Given the description of an element on the screen output the (x, y) to click on. 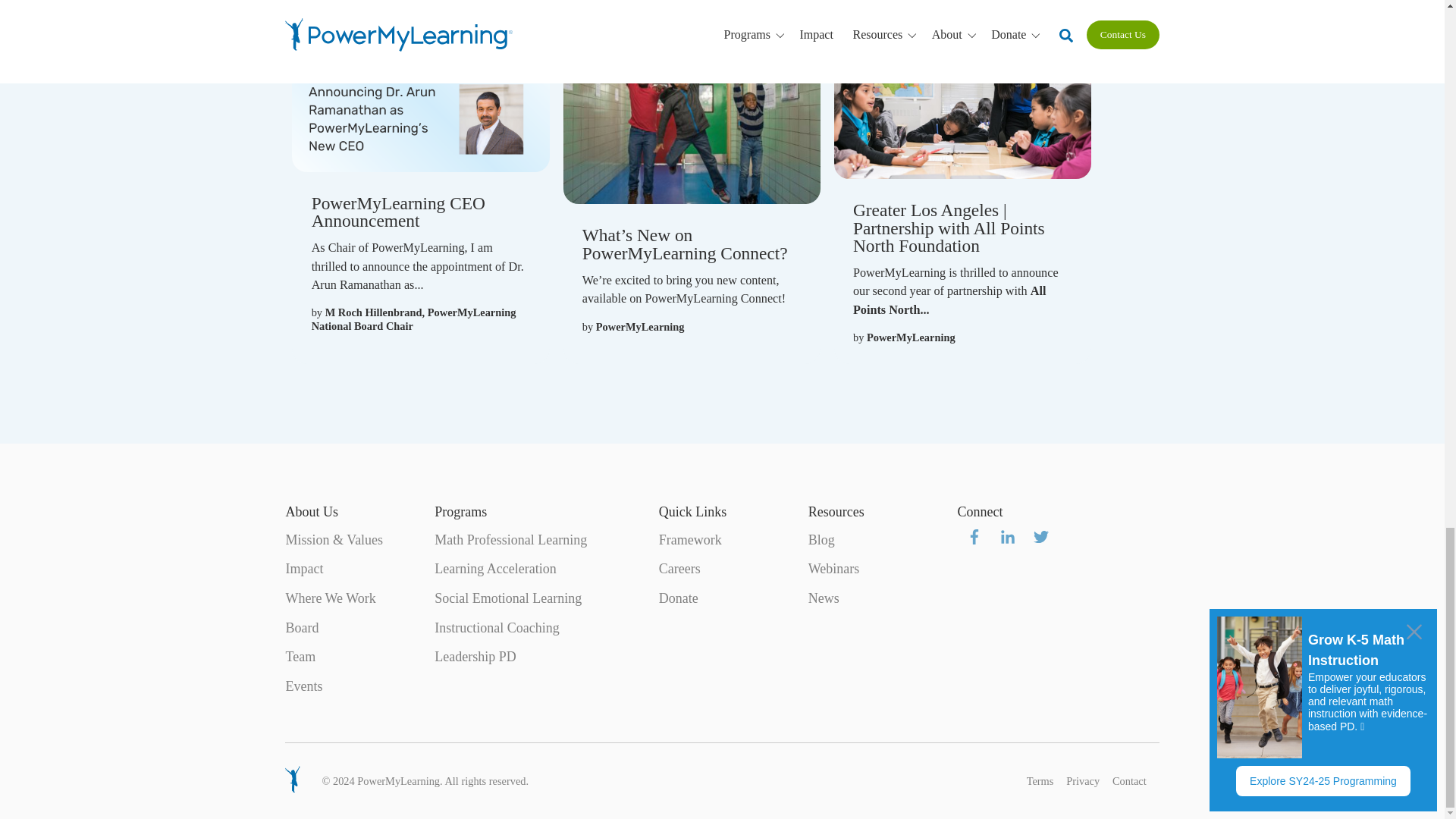
Dr. Arun Ramanathan (417, 275)
M Roch Hillenbrand, PowerMyLearning National Board Chair (413, 318)
PowerMyLearning CEO Announcement (397, 211)
